Given the description of an element on the screen output the (x, y) to click on. 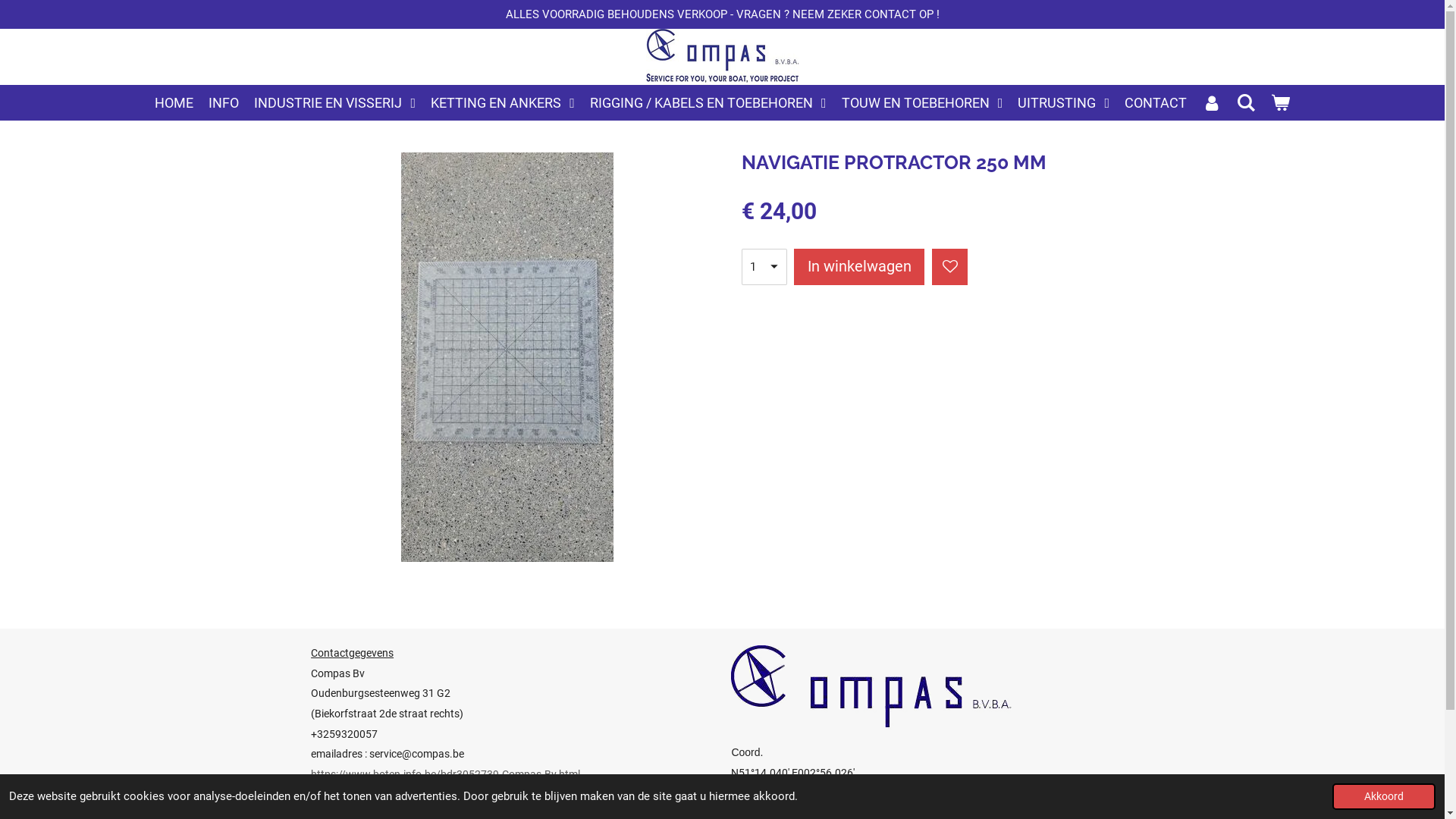
Bekijk winkelwagen Element type: hover (1280, 102)
Zoeken Element type: hover (1245, 102)
RIGGING / KABELS EN TOEBEHOREN Element type: text (708, 102)
UITRUSTING Element type: text (1063, 102)
Akkoord Element type: text (1383, 796)
INFO Element type: text (223, 102)
https://www.boten-info.be/bdr3052739-Compas-Bv.html Element type: text (445, 774)
Compas Element type: hover (722, 56)
Toevoegen aan verlanglijst Element type: hover (949, 266)
Account Element type: hover (1211, 102)
Toevoegen aan verlanglijst Element type: hover (949, 266)
In winkelwagen Element type: text (858, 266)
TOUW EN TOEBEHOREN Element type: text (922, 102)
INDUSTRIE EN VISSERIJ Element type: text (334, 102)
HOME Element type: text (173, 102)
KETTING EN ANKERS Element type: text (502, 102)
CONTACT Element type: text (1155, 102)
